Given the description of an element on the screen output the (x, y) to click on. 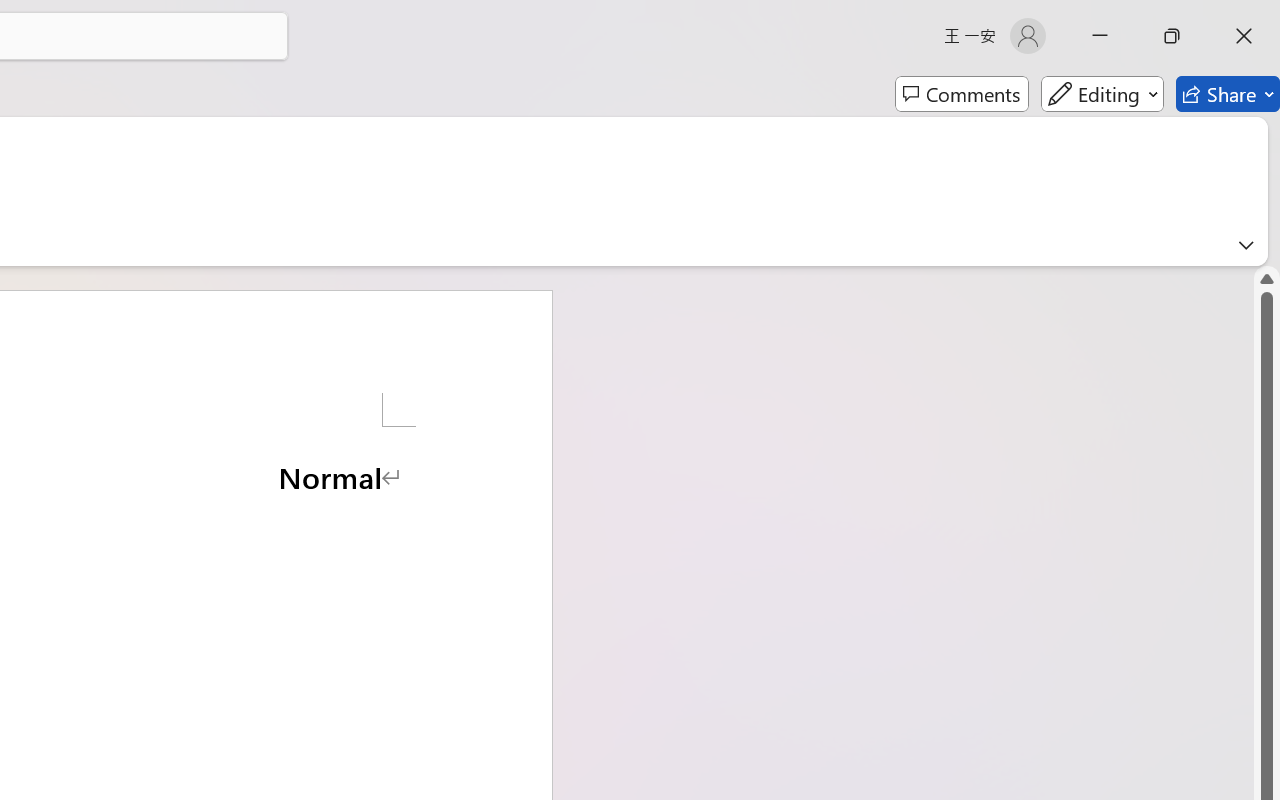
Line up (1267, 278)
Editing (1101, 94)
